Given the description of an element on the screen output the (x, y) to click on. 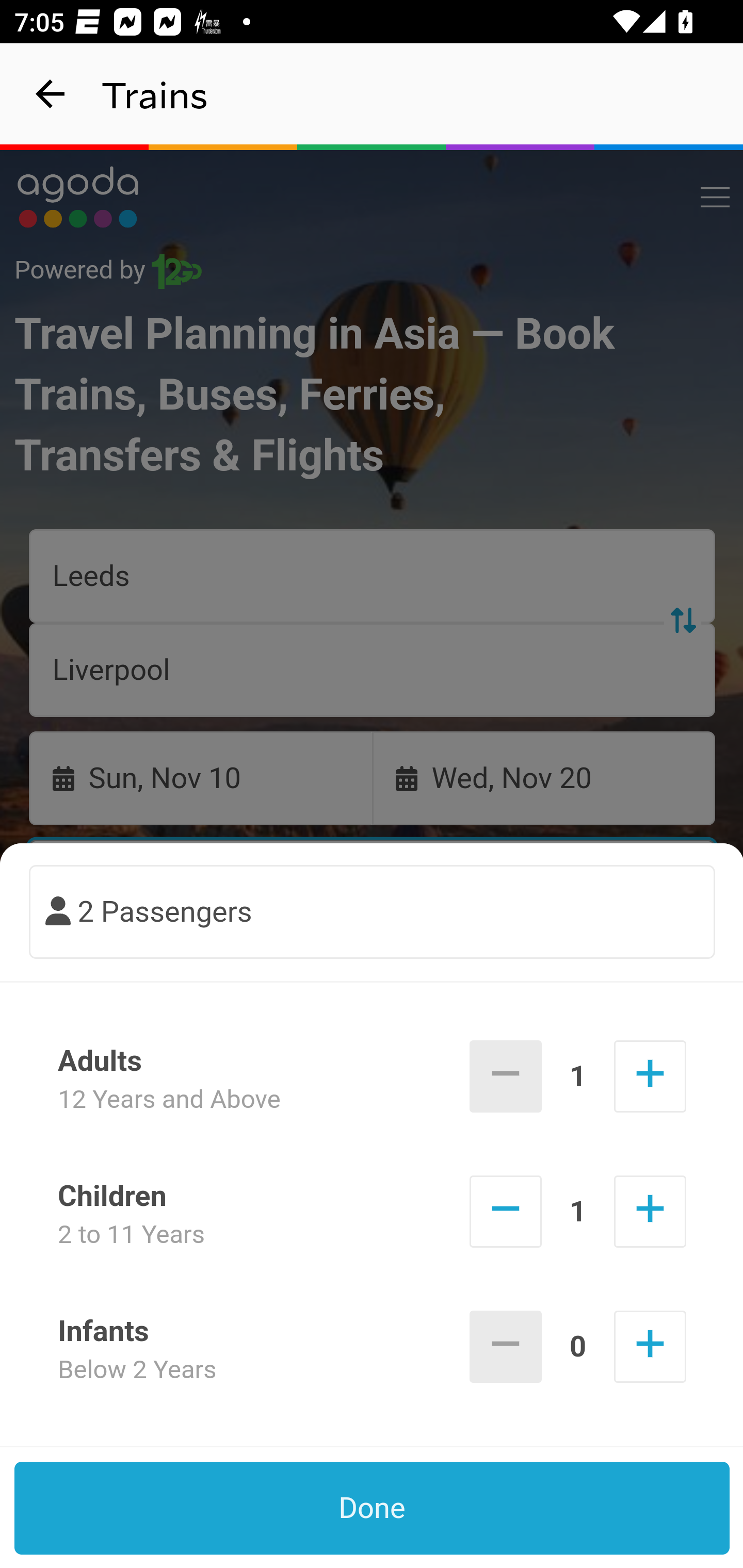
navigation_button (50, 93)
Find Tickets (372, 992)
Done (372, 1508)
